Given the description of an element on the screen output the (x, y) to click on. 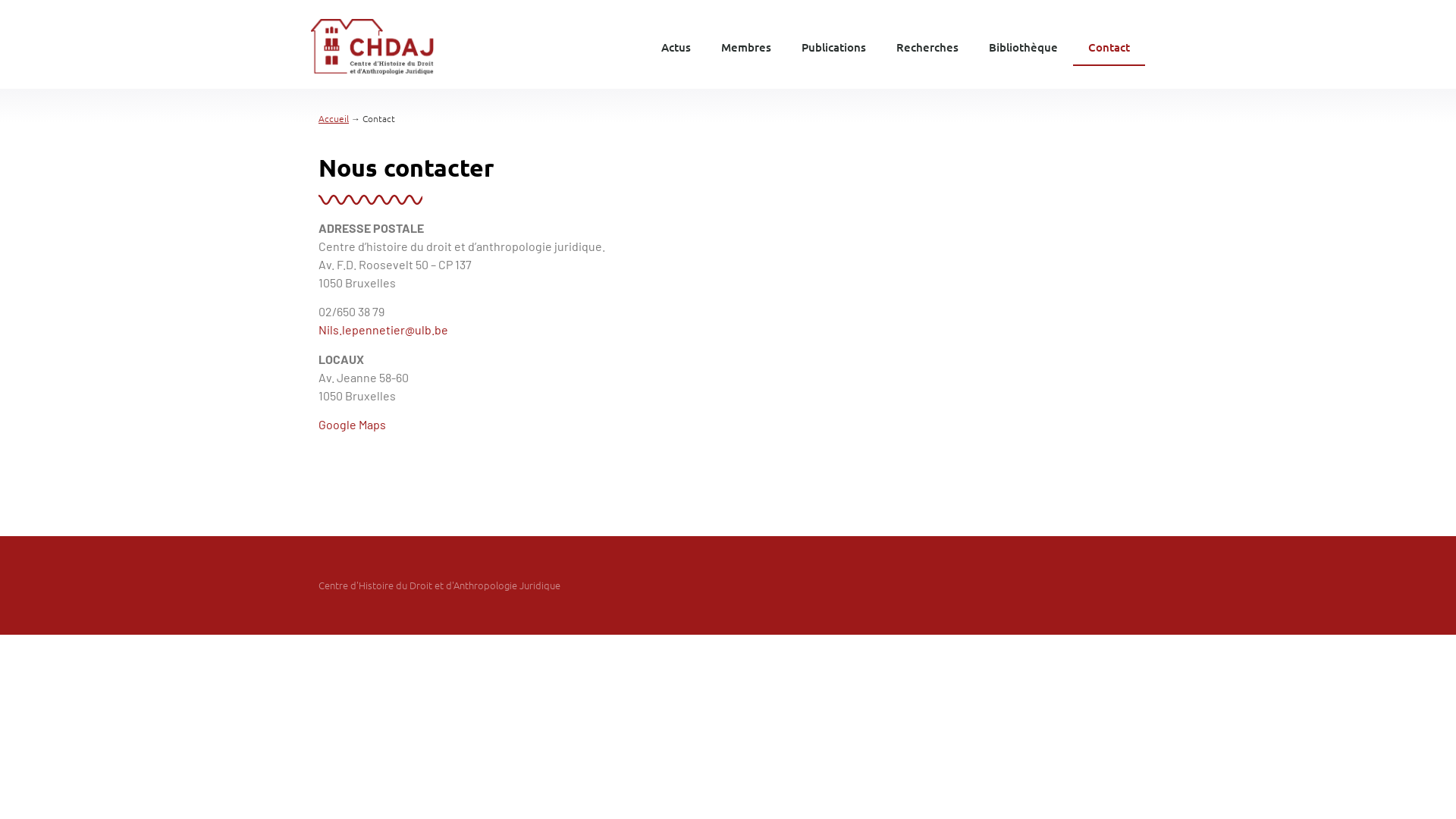
Recherches Element type: text (927, 46)
Contact Element type: text (1109, 46)
Accueil Element type: text (333, 118)
Publications Element type: text (833, 46)
Google Maps Element type: text (351, 424)
Membres Element type: text (746, 46)
Nils.lepennetier@ulb.be Element type: text (383, 329)
Actus Element type: text (676, 46)
